Given the description of an element on the screen output the (x, y) to click on. 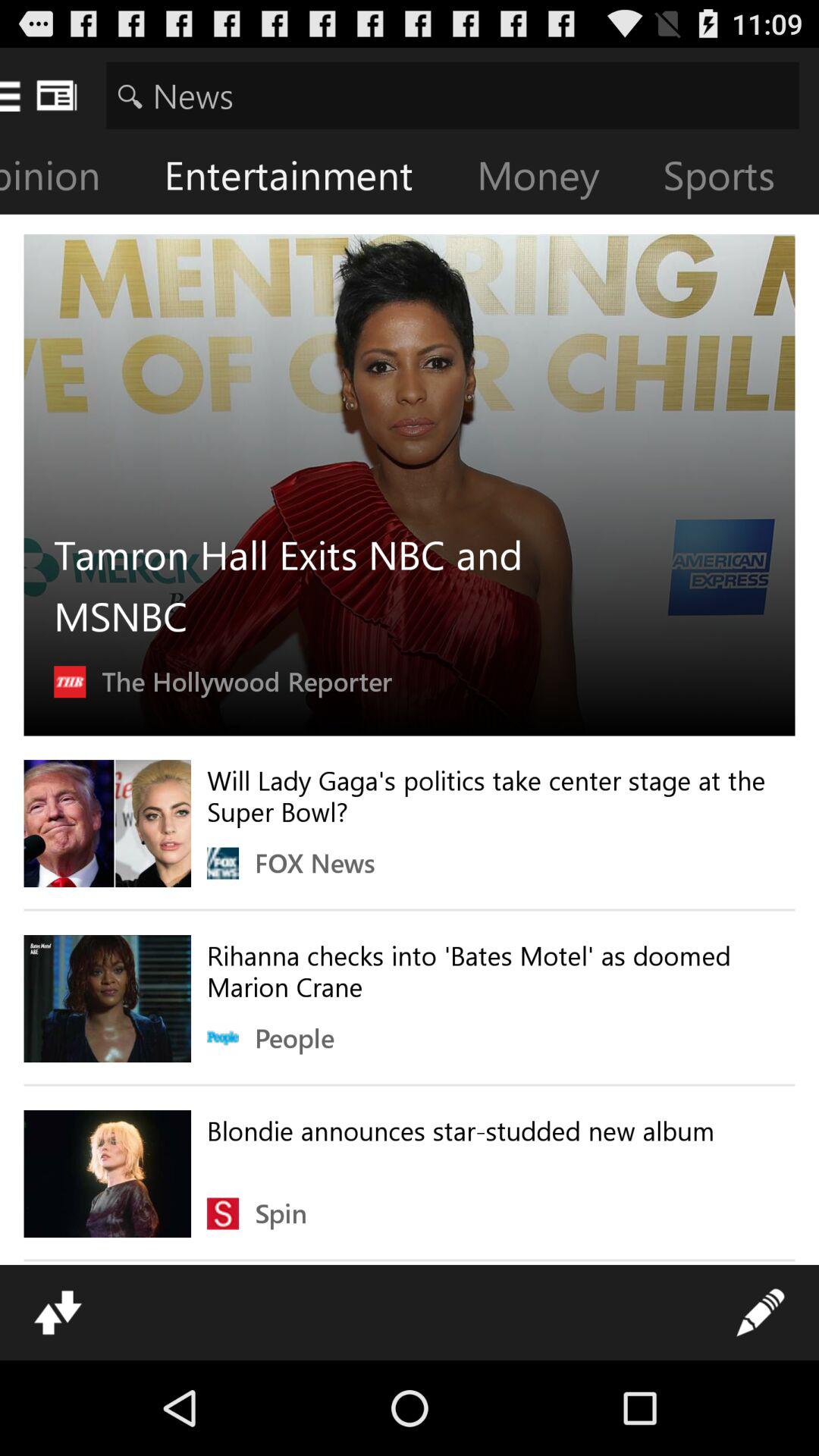
turn off money icon (550, 178)
